Given the description of an element on the screen output the (x, y) to click on. 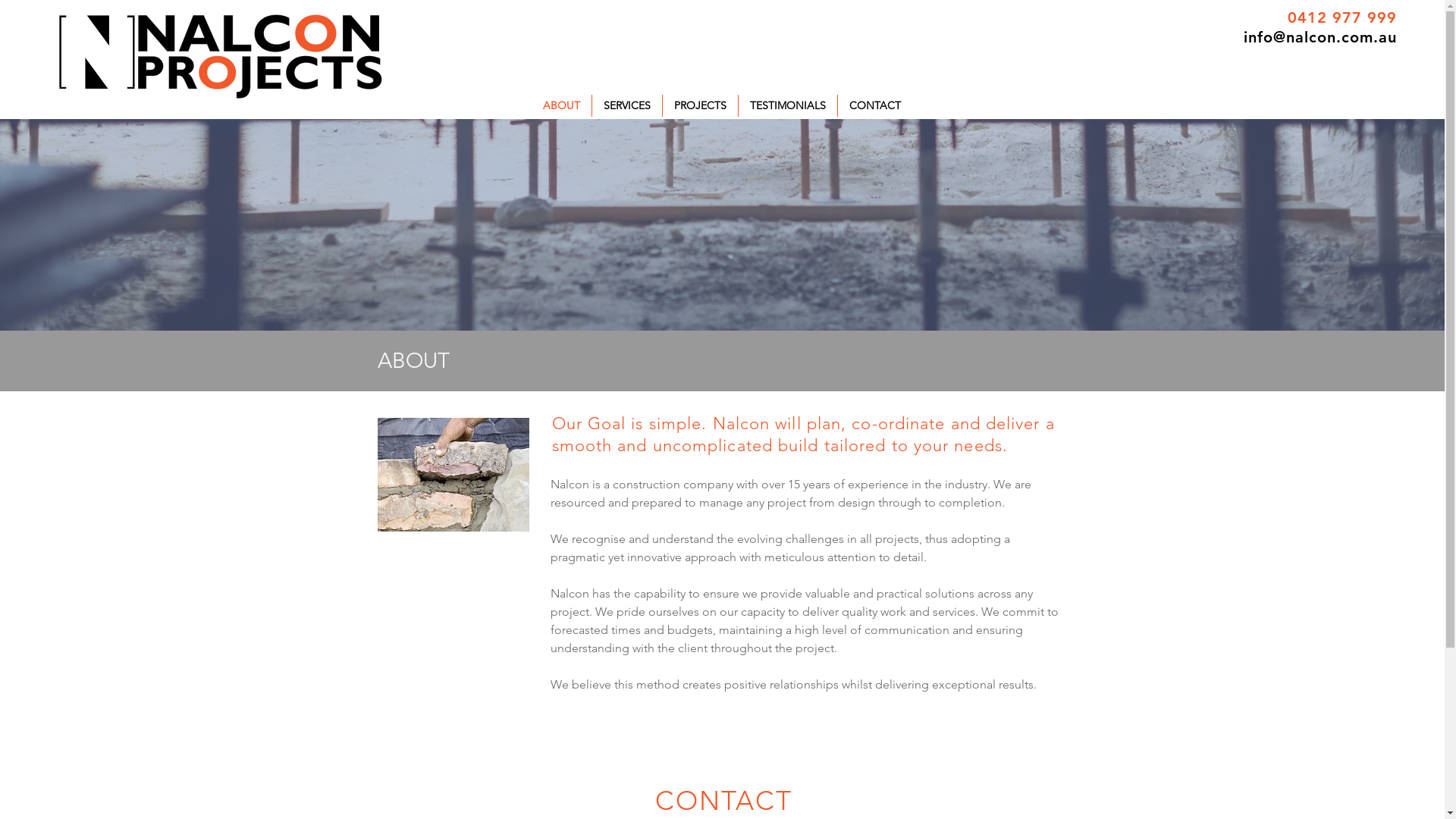
SERVICES Element type: text (626, 105)
info@nalcon.com.au Element type: text (1319, 37)
PROJECTS Element type: text (699, 105)
CONTACT Element type: text (874, 105)
TESTIMONIALS Element type: text (787, 105)
ABOUT Element type: text (560, 105)
